Given the description of an element on the screen output the (x, y) to click on. 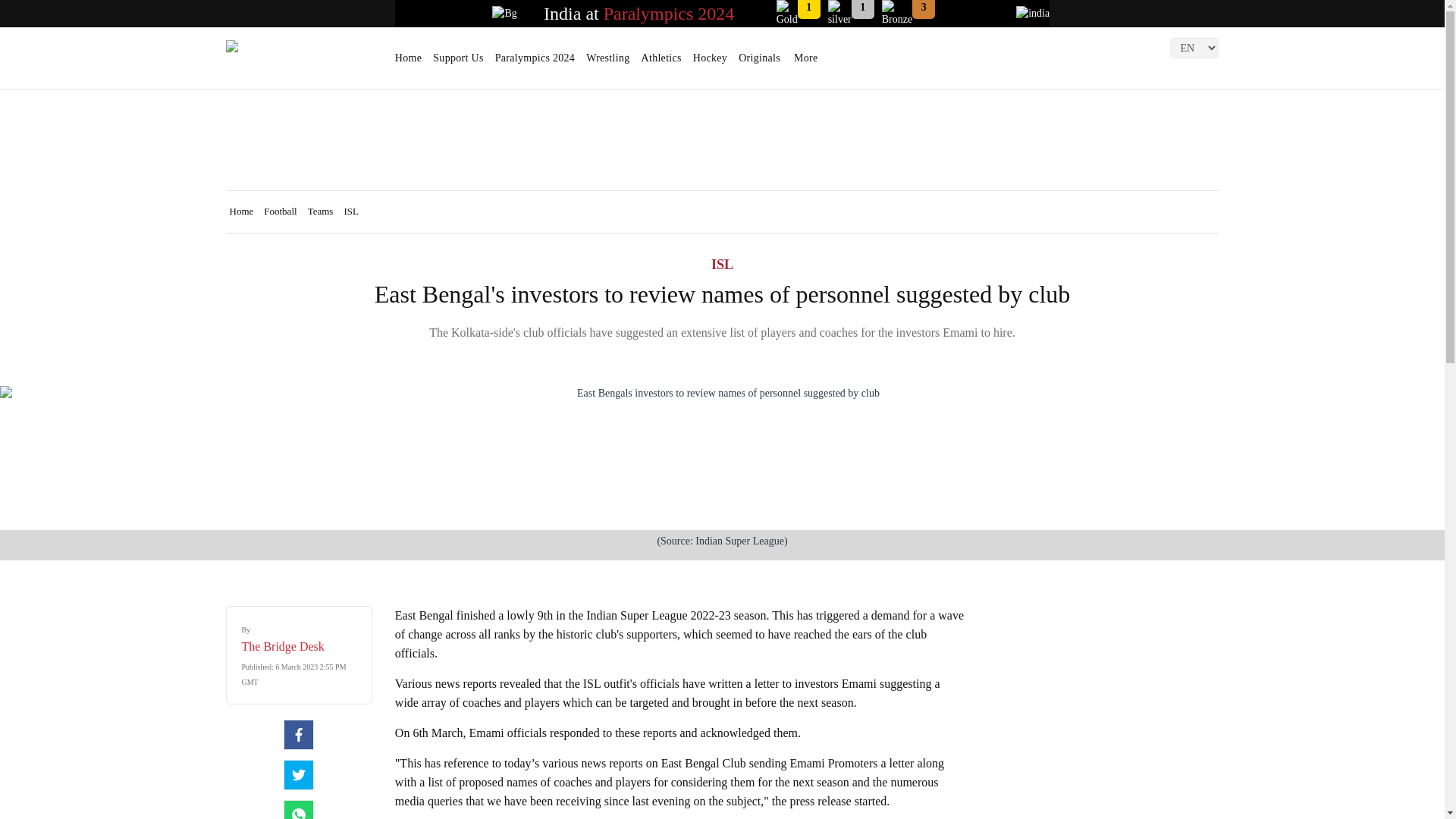
Support Us (457, 63)
Wrestling (607, 63)
Paralympics 2024 (669, 13)
Paralympics 2024 (535, 63)
